Given the description of an element on the screen output the (x, y) to click on. 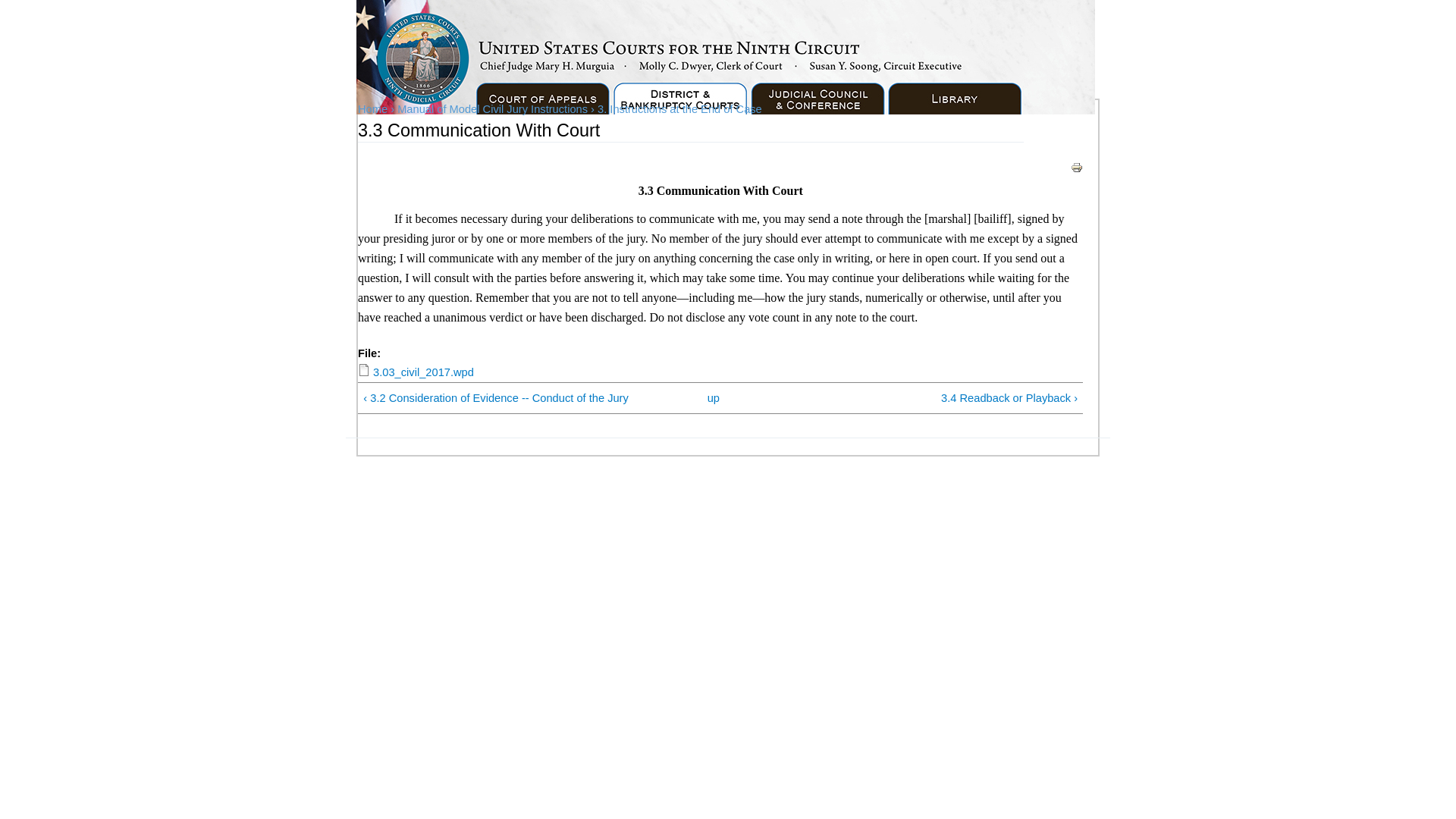
3. Instructions at the End of Case (678, 109)
Go to previous page (512, 398)
Go to next page (927, 398)
Printer-friendly version (1076, 167)
Display a printer-friendly version of this page. (1076, 165)
up (713, 398)
Skip to main content (694, 2)
Go to parent page (713, 398)
Manual of Model Civil Jury Instructions (492, 109)
Home (372, 109)
